Given the description of an element on the screen output the (x, y) to click on. 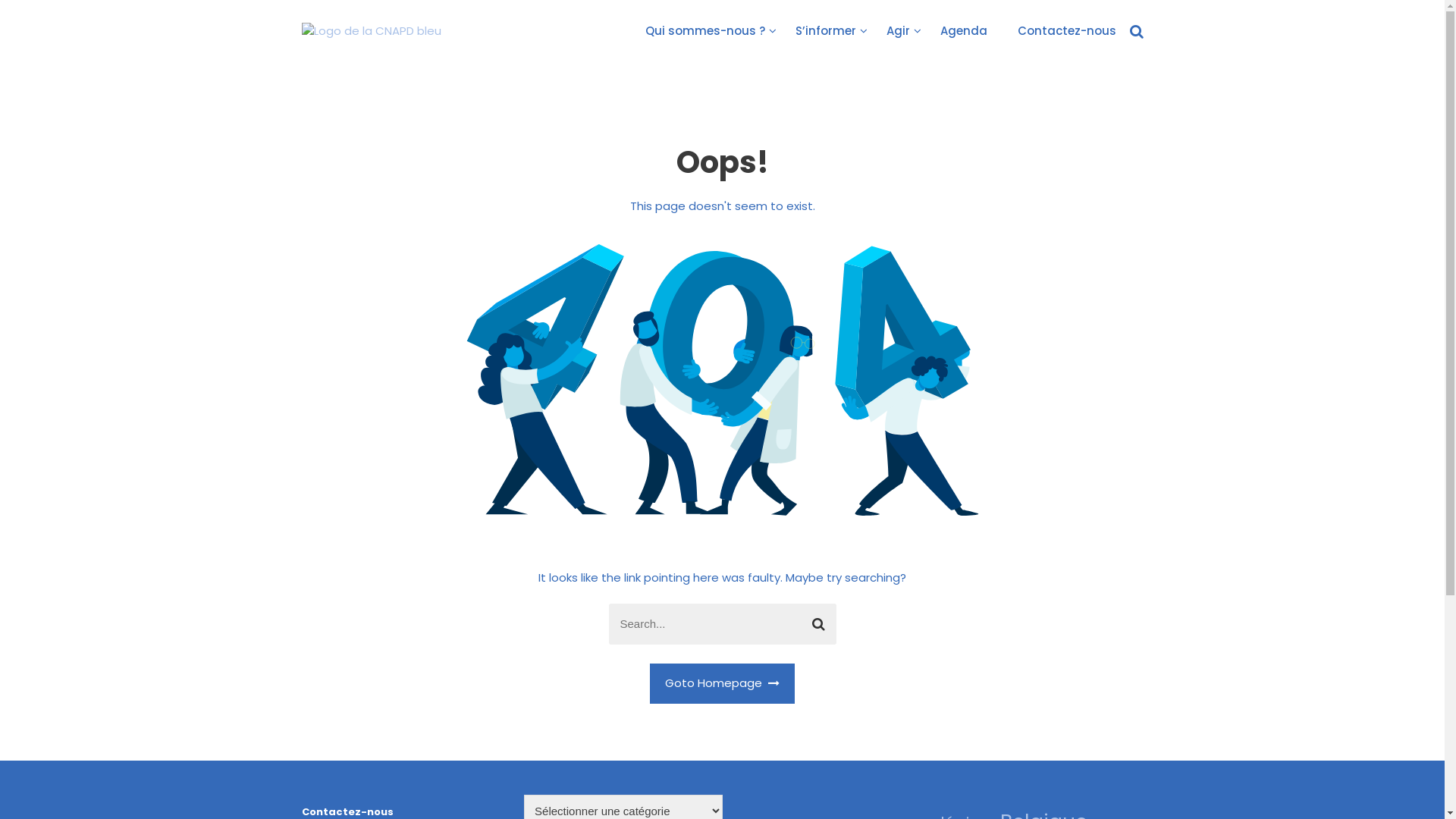
Contactez-nous Element type: text (1066, 30)
Qui sommes-nous ? Element type: text (704, 30)
Circular focus Element type: text (1443, 194)
Goto Homepage Element type: text (721, 683)
Agir Element type: text (897, 30)
Search Element type: text (818, 623)
Agenda Element type: text (963, 30)
CNAPD Element type: text (331, 52)
